Given the description of an element on the screen output the (x, y) to click on. 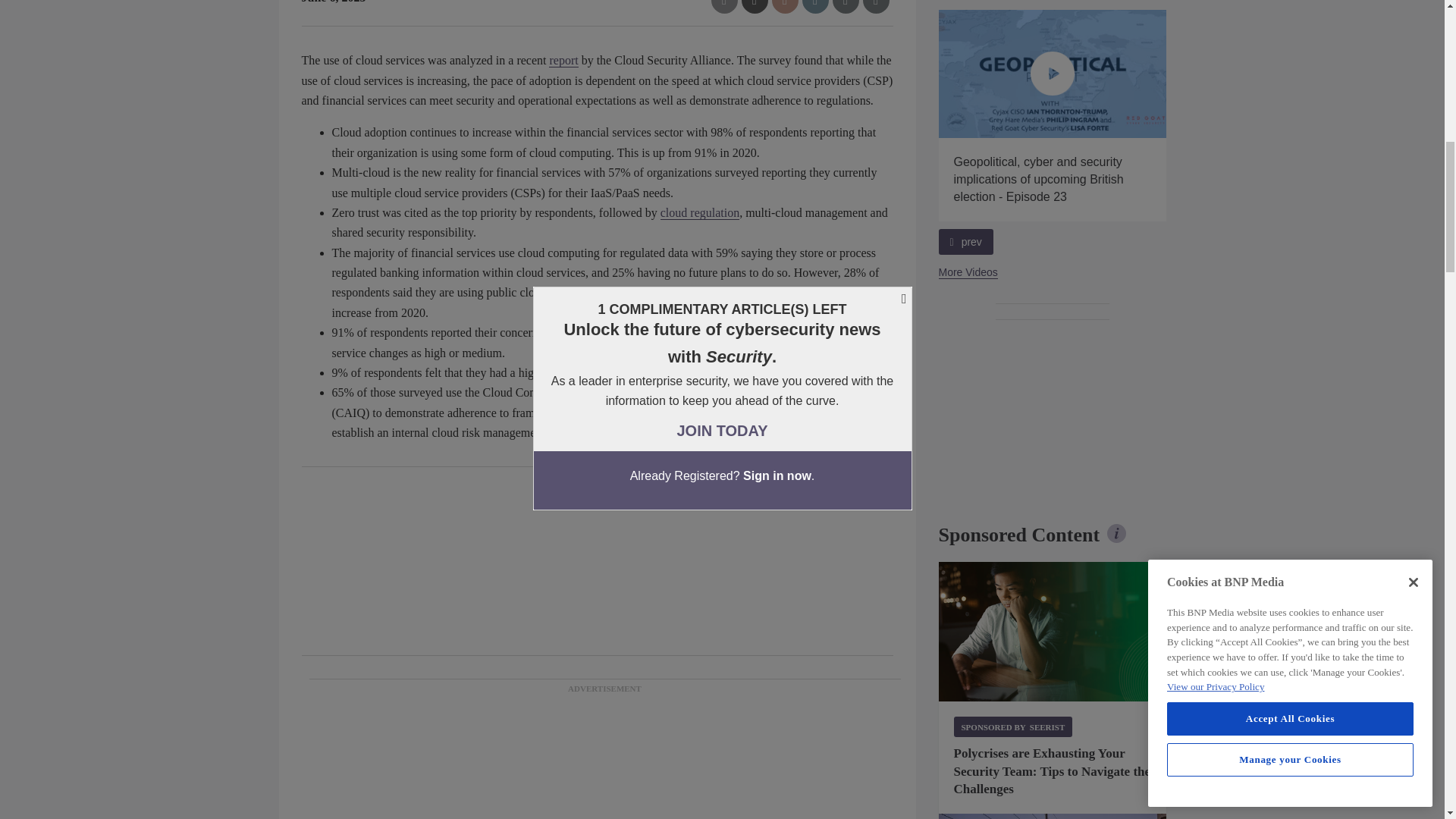
Threat management (1052, 631)
AMAROK Security Gate (1052, 816)
Sponsored by Seerist (1013, 726)
